Given the description of an element on the screen output the (x, y) to click on. 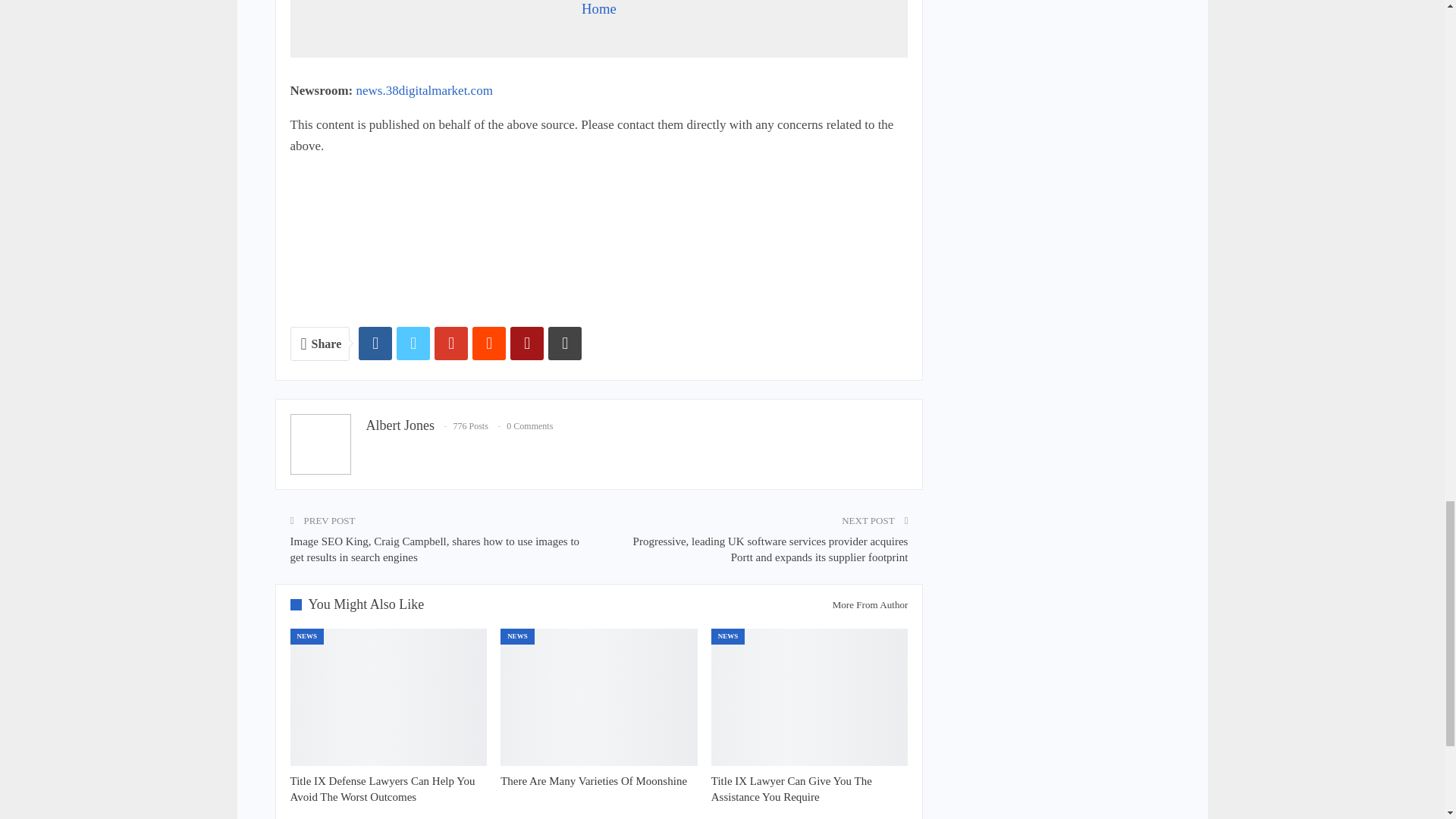
Home (597, 8)
Title IX Lawyer Can Give You The Assistance You Require (791, 788)
There Are Many Varieties Of Moonshine (598, 697)
Title IX Lawyer Can Give You The Assistance You Require (809, 697)
news.38digitalmarket.com (424, 90)
There Are Many Varieties Of Moonshine (593, 780)
